Given the description of an element on the screen output the (x, y) to click on. 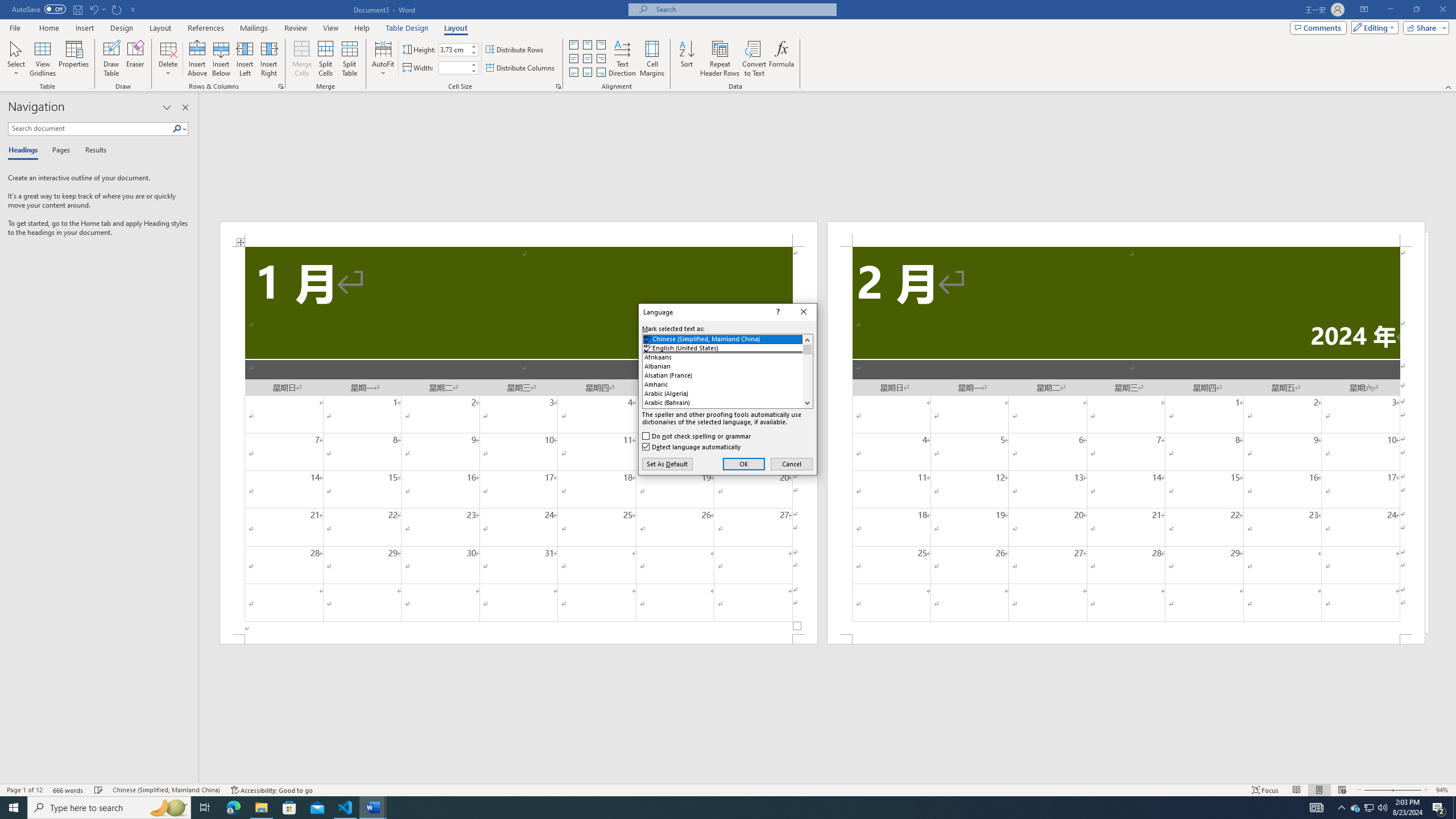
Merge Cells (301, 58)
Detect language automatically (692, 446)
Type here to search (108, 807)
Header -Section 1- (518, 233)
Minimize (1355, 807)
Headings (1390, 9)
Help (25, 150)
Microsoft Store (361, 28)
Repeat Header Rows (289, 807)
Align Center Justified (719, 58)
View (573, 58)
Insert Left (330, 28)
